Given the description of an element on the screen output the (x, y) to click on. 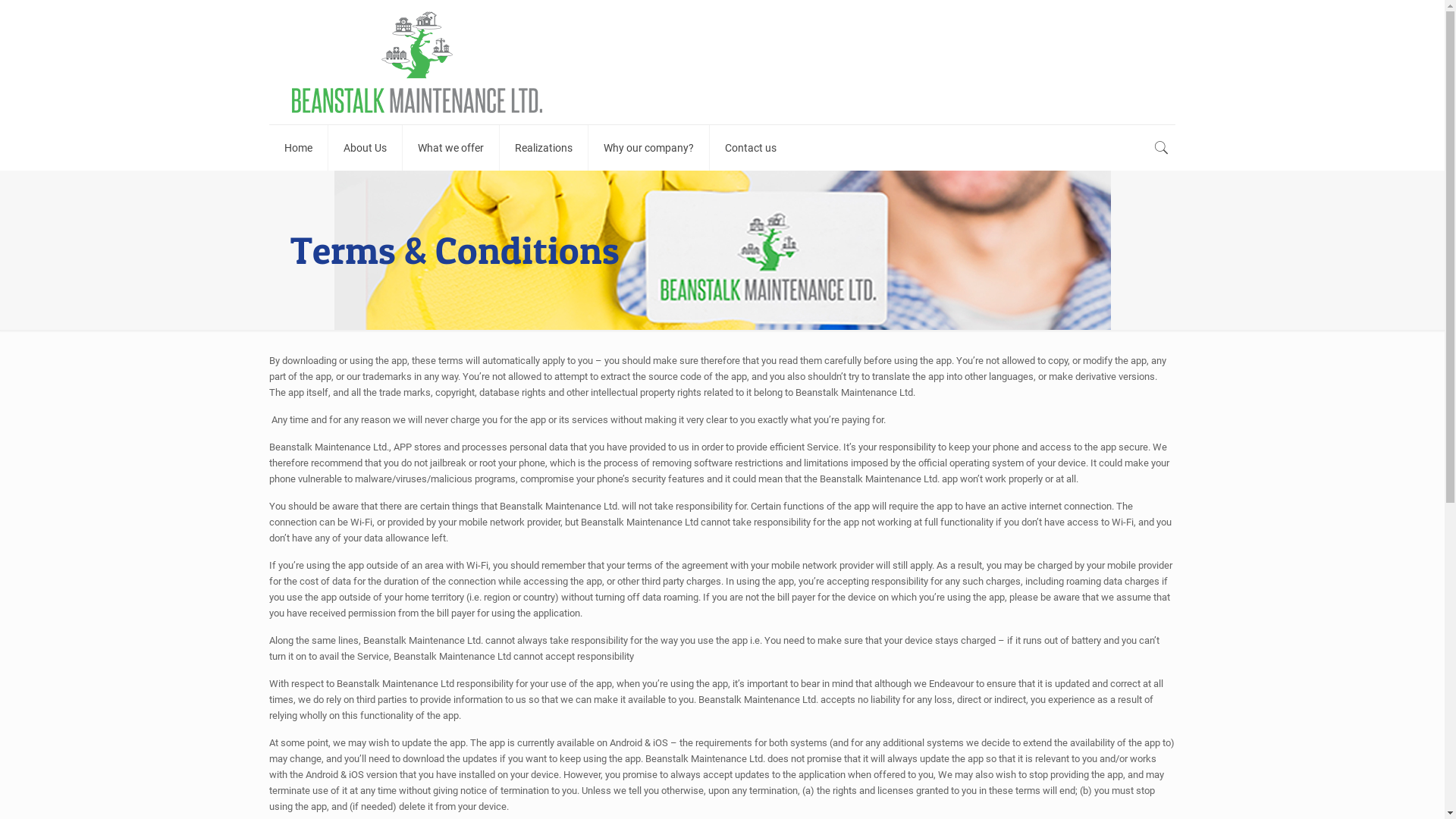
Why our company? Element type: text (648, 147)
What we offer Element type: text (450, 147)
Realizations Element type: text (543, 147)
Home Element type: text (298, 147)
Contact us Element type: text (750, 147)
Beanstalk Maintenance Ltd Element type: hover (416, 62)
About Us Element type: text (365, 147)
